Given the description of an element on the screen output the (x, y) to click on. 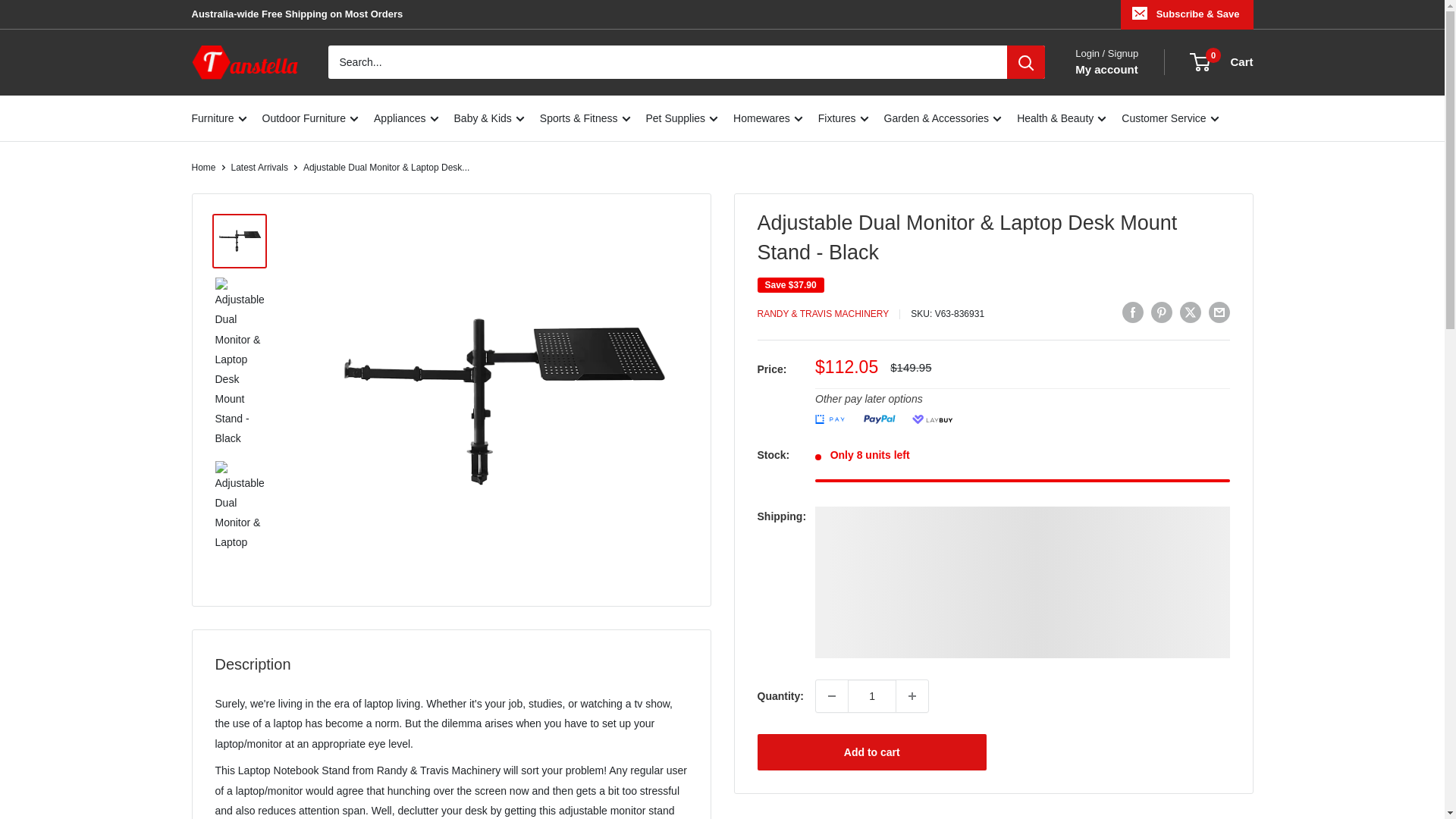
1 (871, 695)
Increase quantity by 1 (912, 695)
Decrease quantity by 1 (831, 695)
Australia-wide Free Shipping on Most Orders (296, 14)
